Given the description of an element on the screen output the (x, y) to click on. 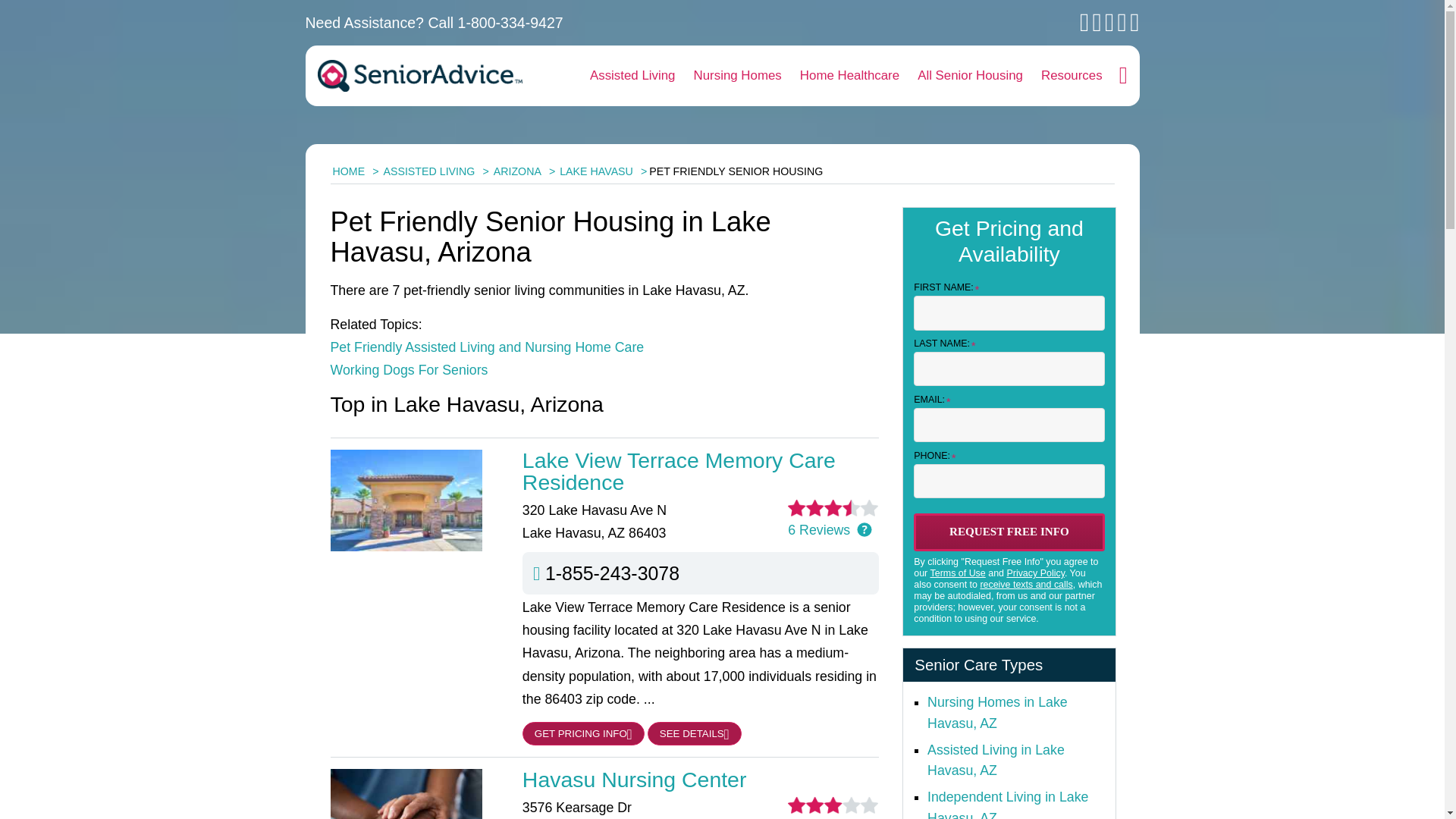
1-800-334-9427 (510, 22)
Havasu Nursing Center Lake Havasu, AZ (700, 779)
Independent (1007, 804)
Home Healthcare (849, 75)
Nursing Homes (737, 75)
Assisted Living (632, 75)
Resources (1072, 75)
Assisted (995, 760)
Lake View Terrace Memory Care Residence Lake Havasu, AZ (700, 471)
Request Free Info (1008, 531)
Nursing (997, 712)
All Senior Housing (970, 75)
